Given the description of an element on the screen output the (x, y) to click on. 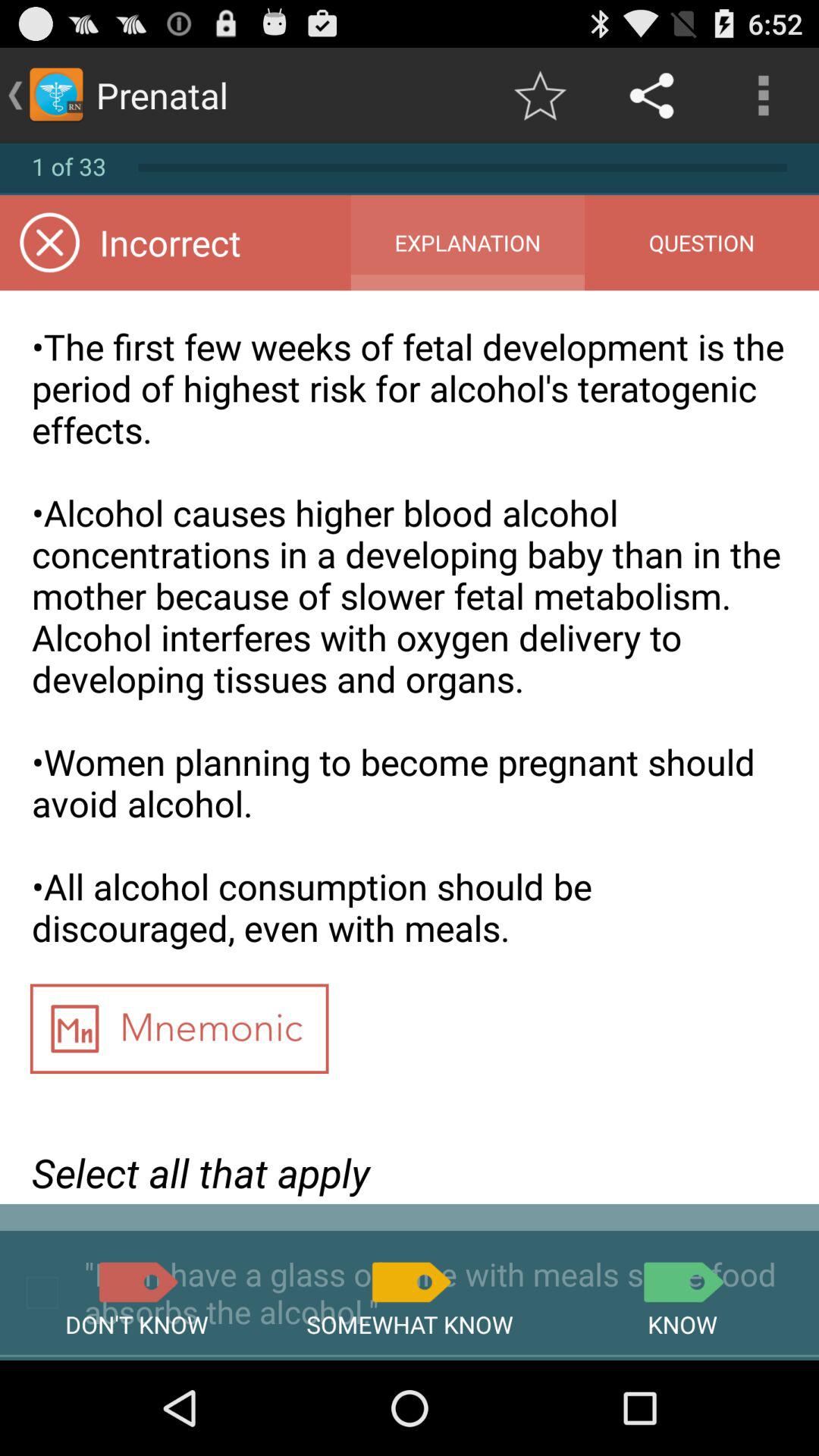
somewhat know answer button (409, 1281)
